Given the description of an element on the screen output the (x, y) to click on. 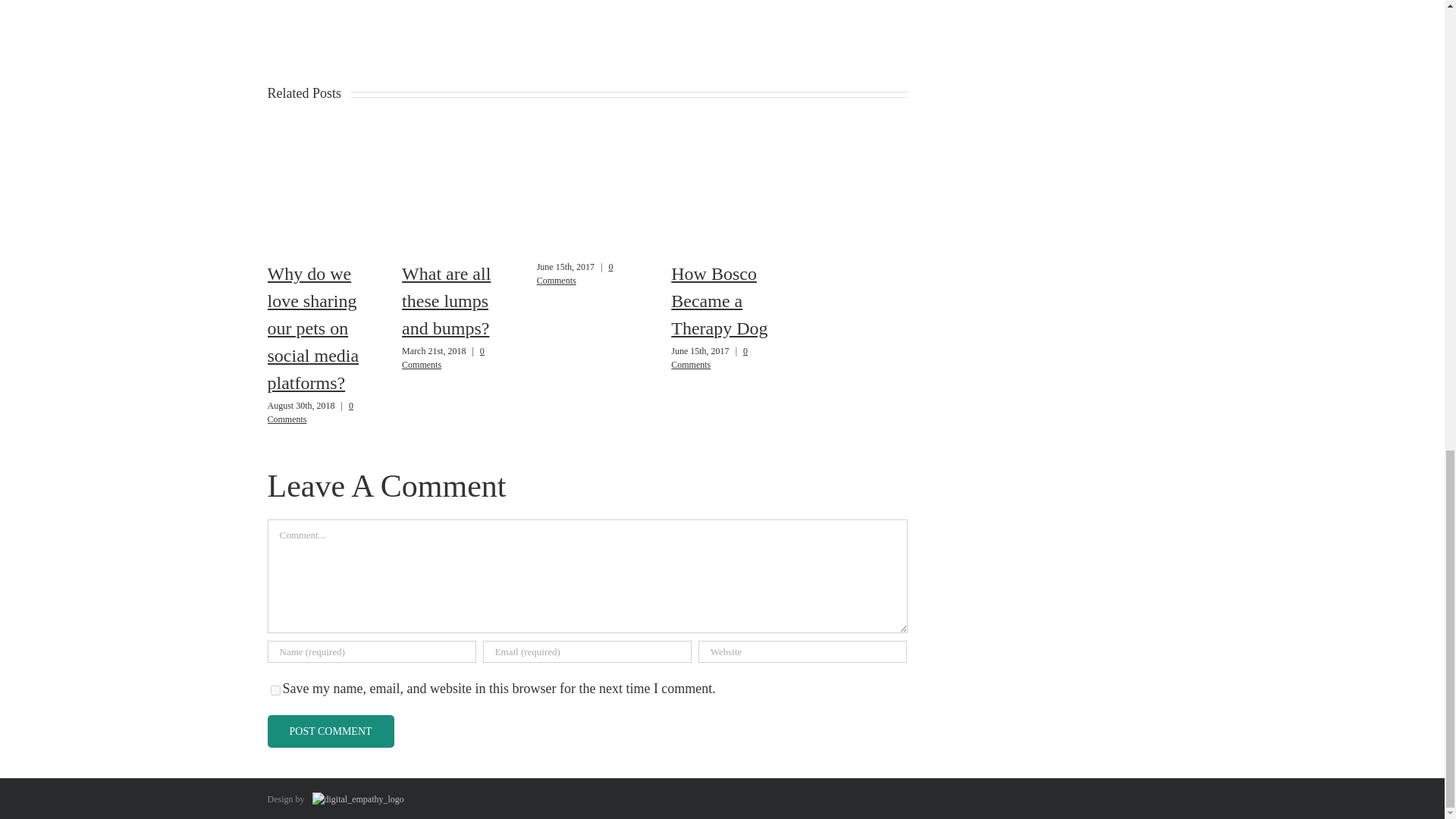
yes (274, 690)
Post Comment (329, 730)
What are all these lumps and bumps? (445, 300)
